Given the description of an element on the screen output the (x, y) to click on. 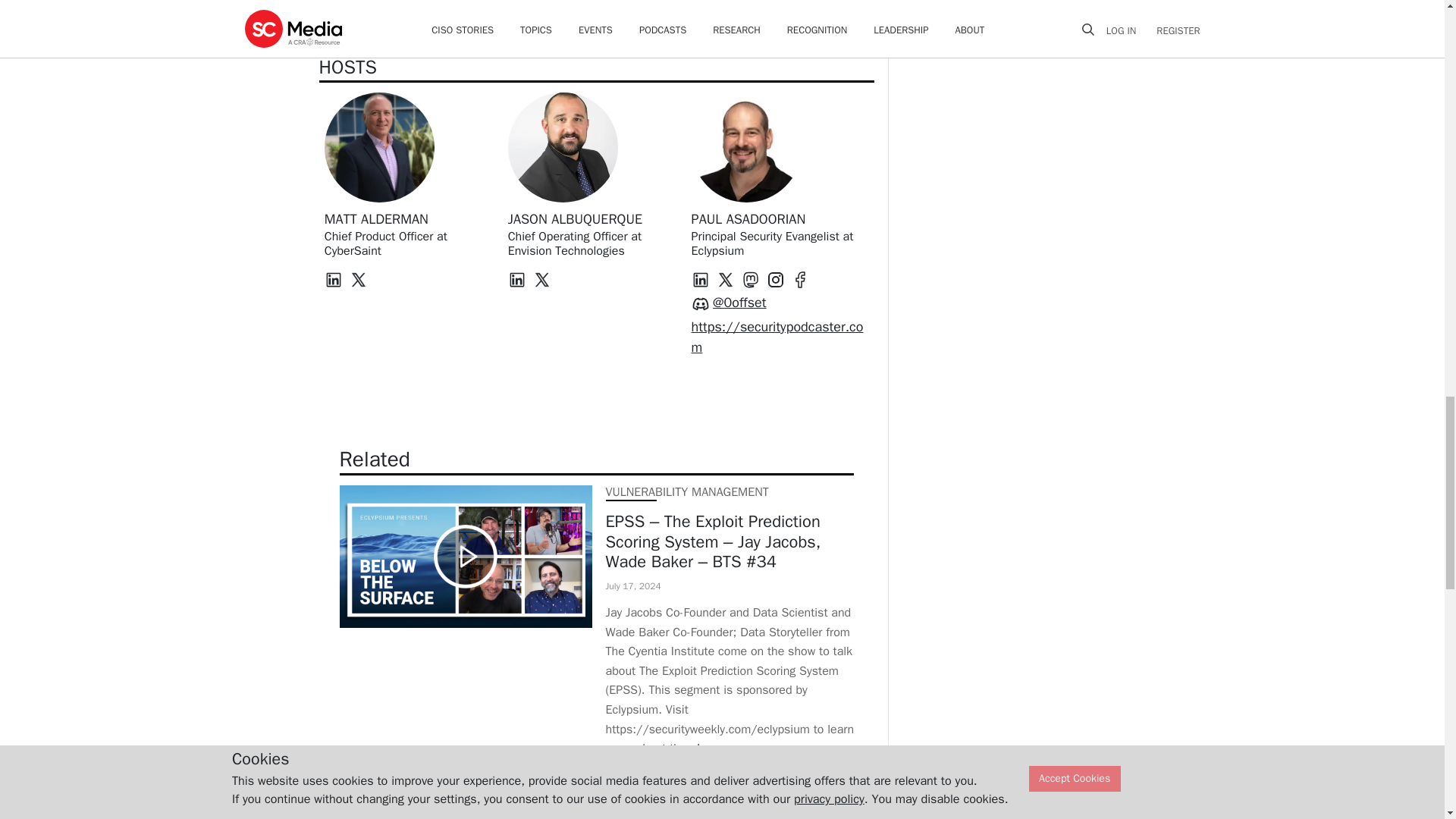
PAUL ASADOORIAN (748, 218)
MATT ALDERMAN (376, 218)
JASON ALBUQUERQUE (575, 218)
